Given the description of an element on the screen output the (x, y) to click on. 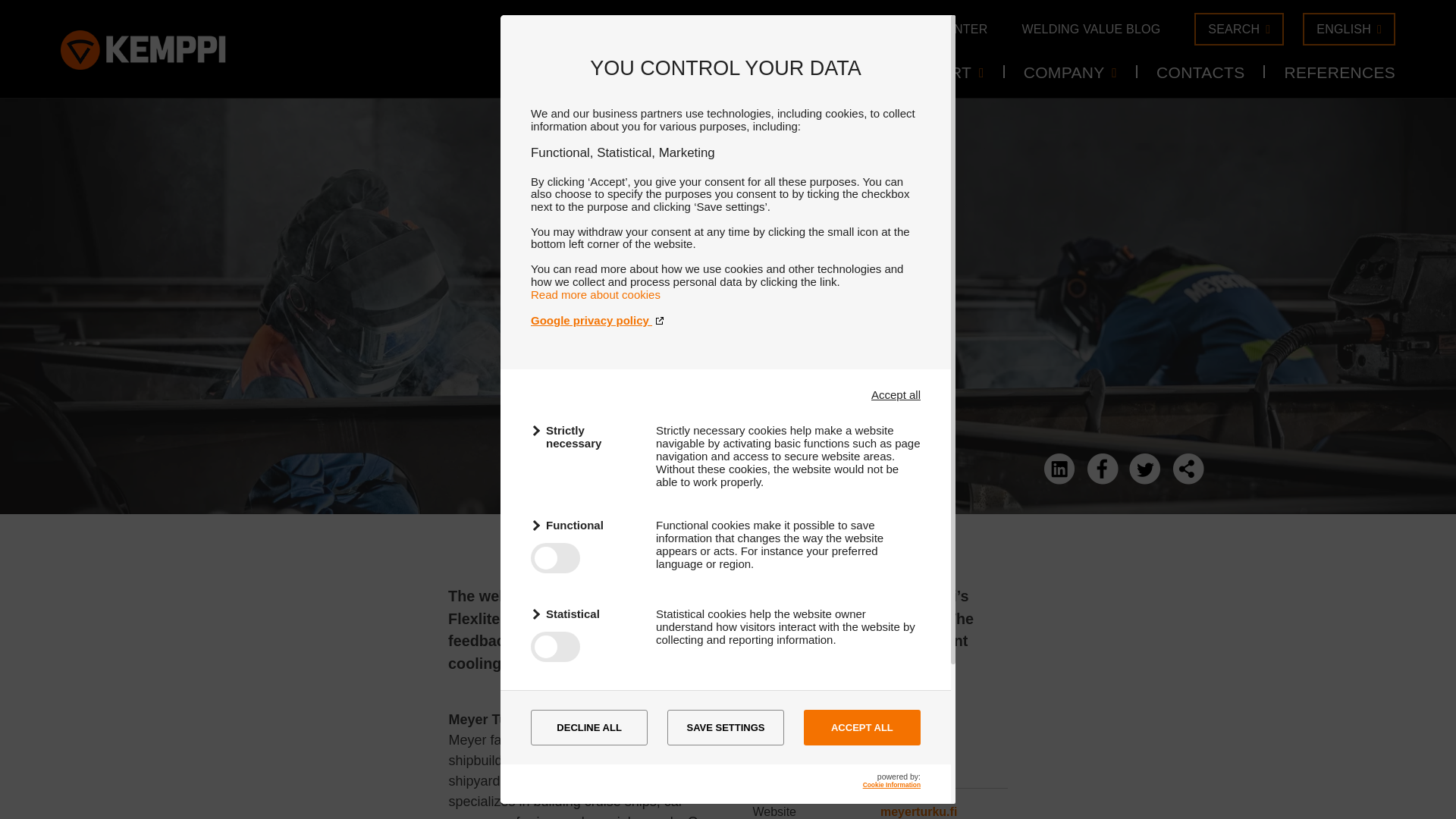
Strictly necessary (584, 436)
Functional (584, 525)
Google privacy policy (725, 319)
Marketing (584, 702)
Statistical (584, 613)
Accept all (895, 394)
Read more about cookies (596, 294)
